Given the description of an element on the screen output the (x, y) to click on. 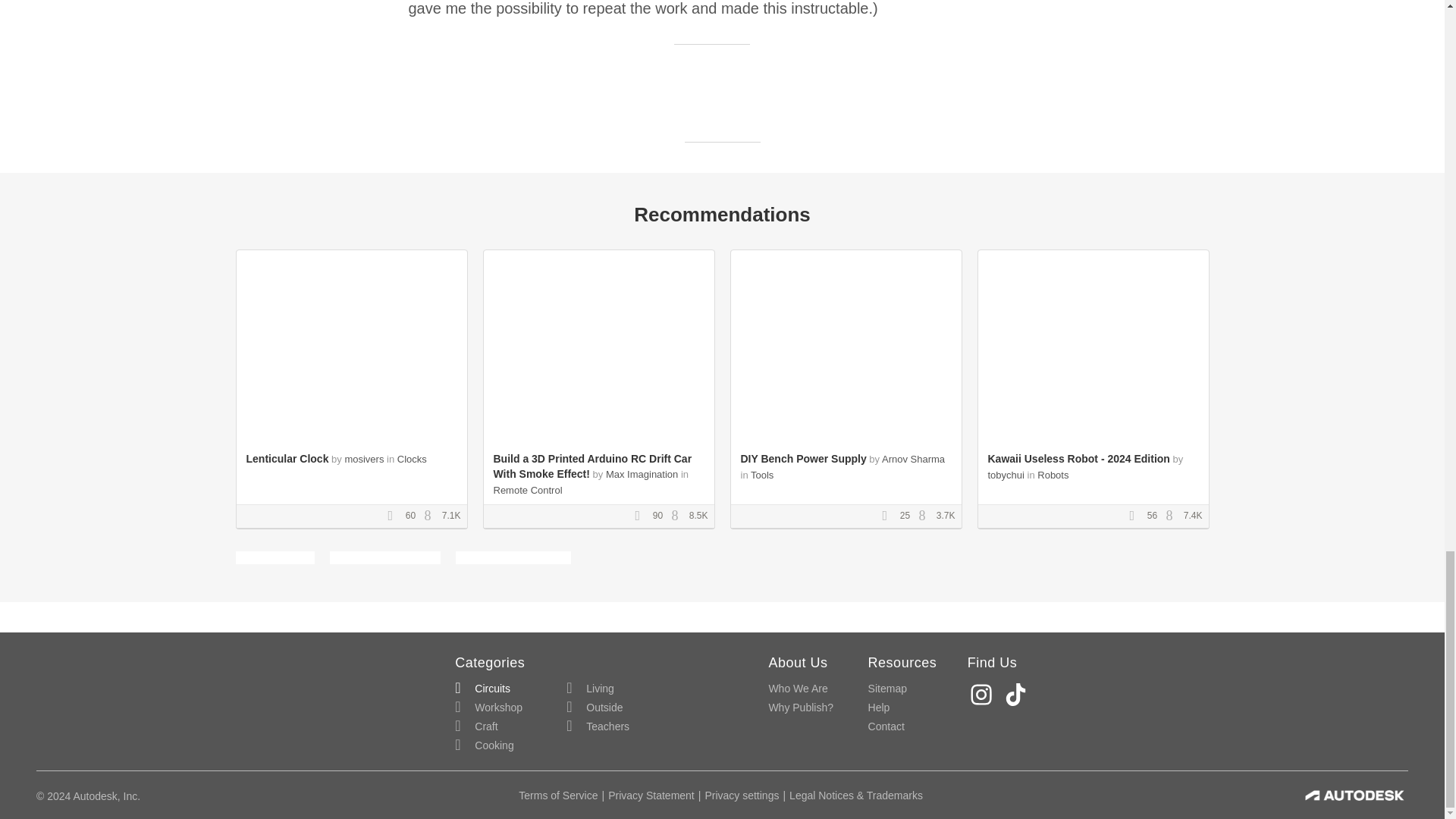
Views Count (431, 516)
Arnov Sharma (913, 459)
TikTok (1018, 694)
Views Count (678, 516)
DIY Bench Power Supply (802, 458)
Favorites Count (1136, 516)
Views Count (1173, 516)
Workshop (488, 707)
Clocks (411, 459)
Robots (1052, 474)
Lenticular Clock (287, 458)
mosivers (363, 459)
Build a 3D Printed Arduino RC Drift Car With Smoke Effect! (592, 465)
Instagram (983, 694)
Favorites Count (395, 516)
